Given the description of an element on the screen output the (x, y) to click on. 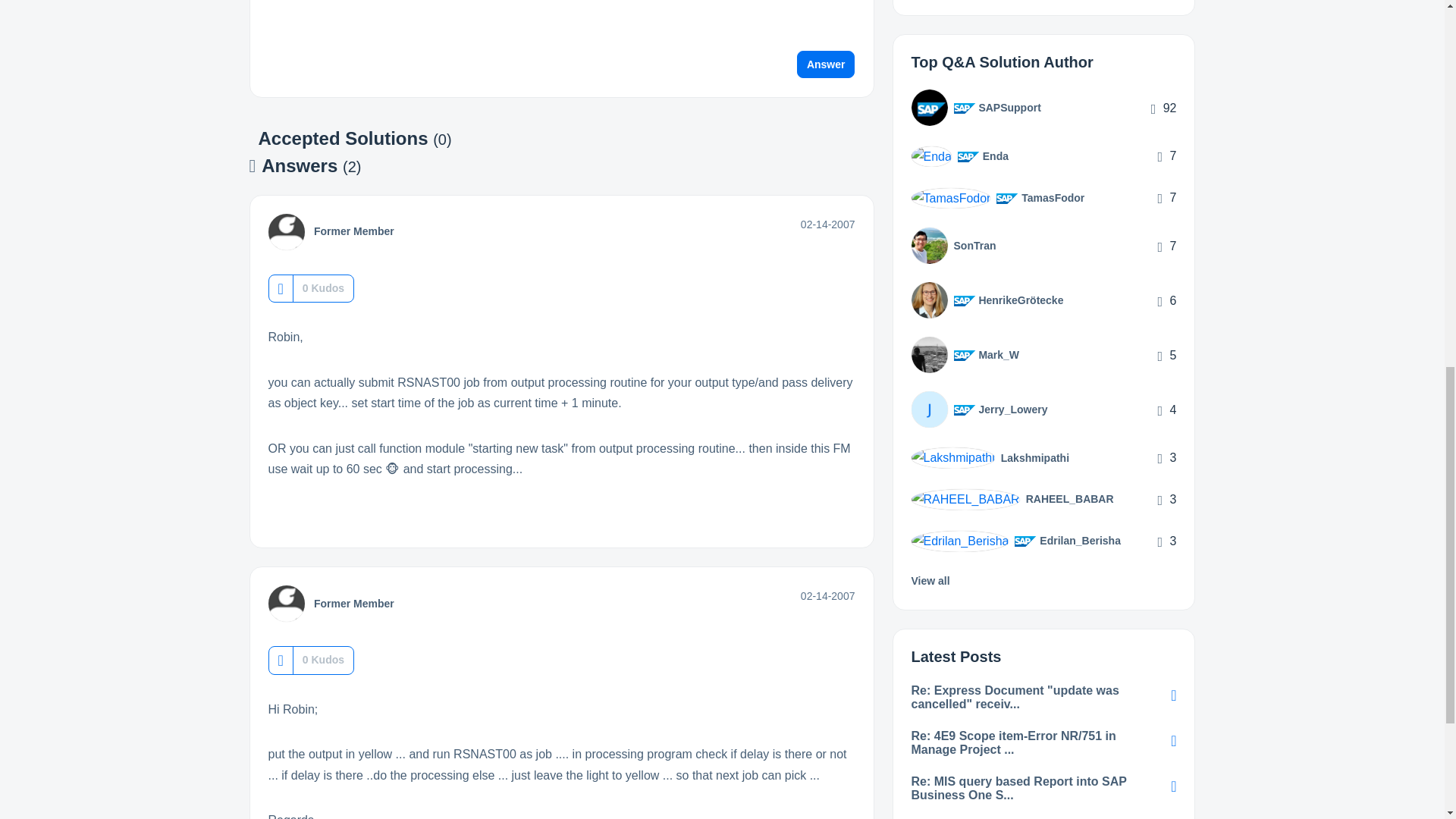
Posted on (828, 224)
Answer (826, 63)
The total number of kudos this post has received. (323, 288)
